Given the description of an element on the screen output the (x, y) to click on. 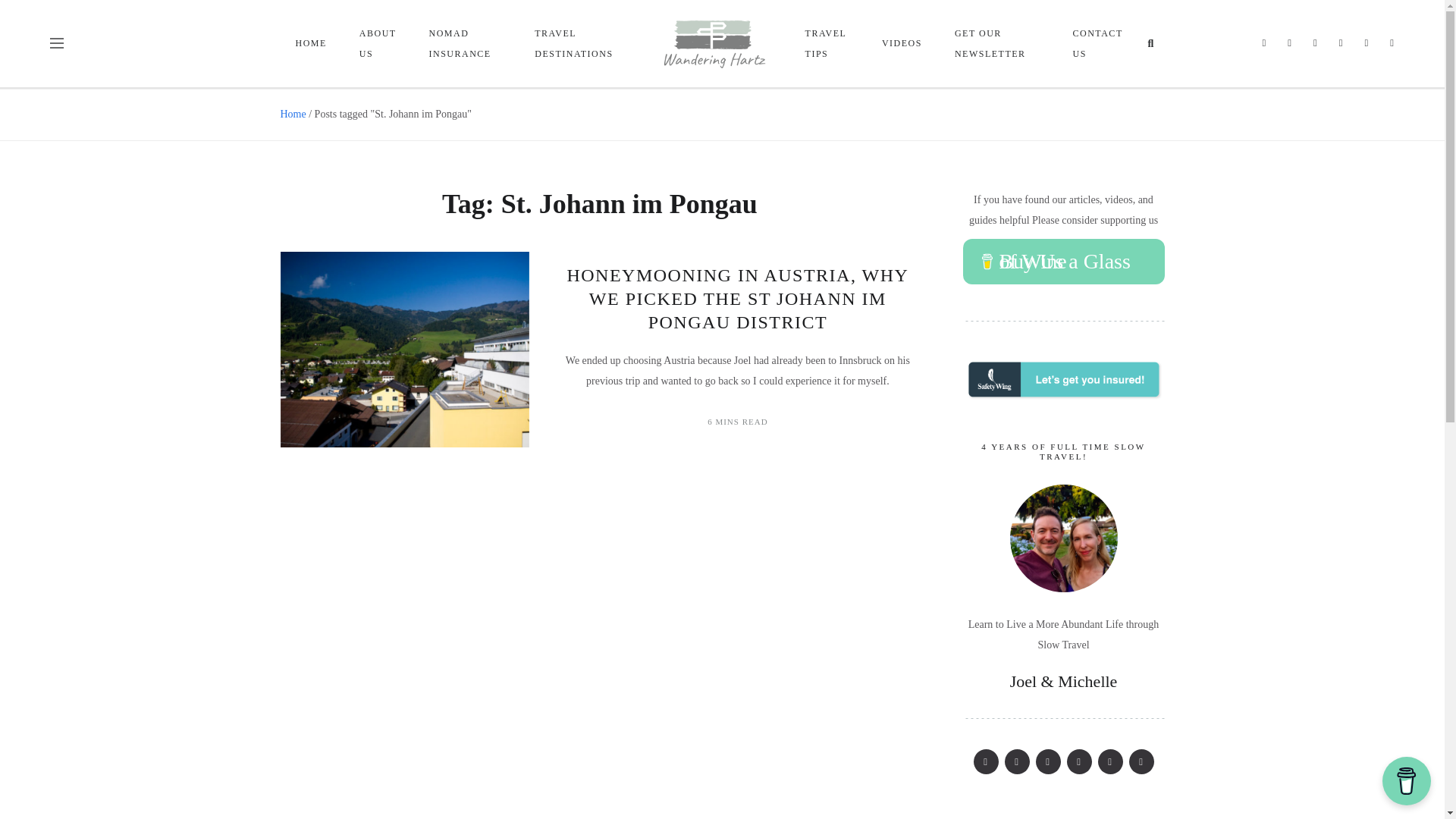
NOMAD INSURANCE (466, 43)
TRAVEL DESTINATIONS (579, 43)
HOME (312, 43)
ABOUT US (378, 43)
